Given the description of an element on the screen output the (x, y) to click on. 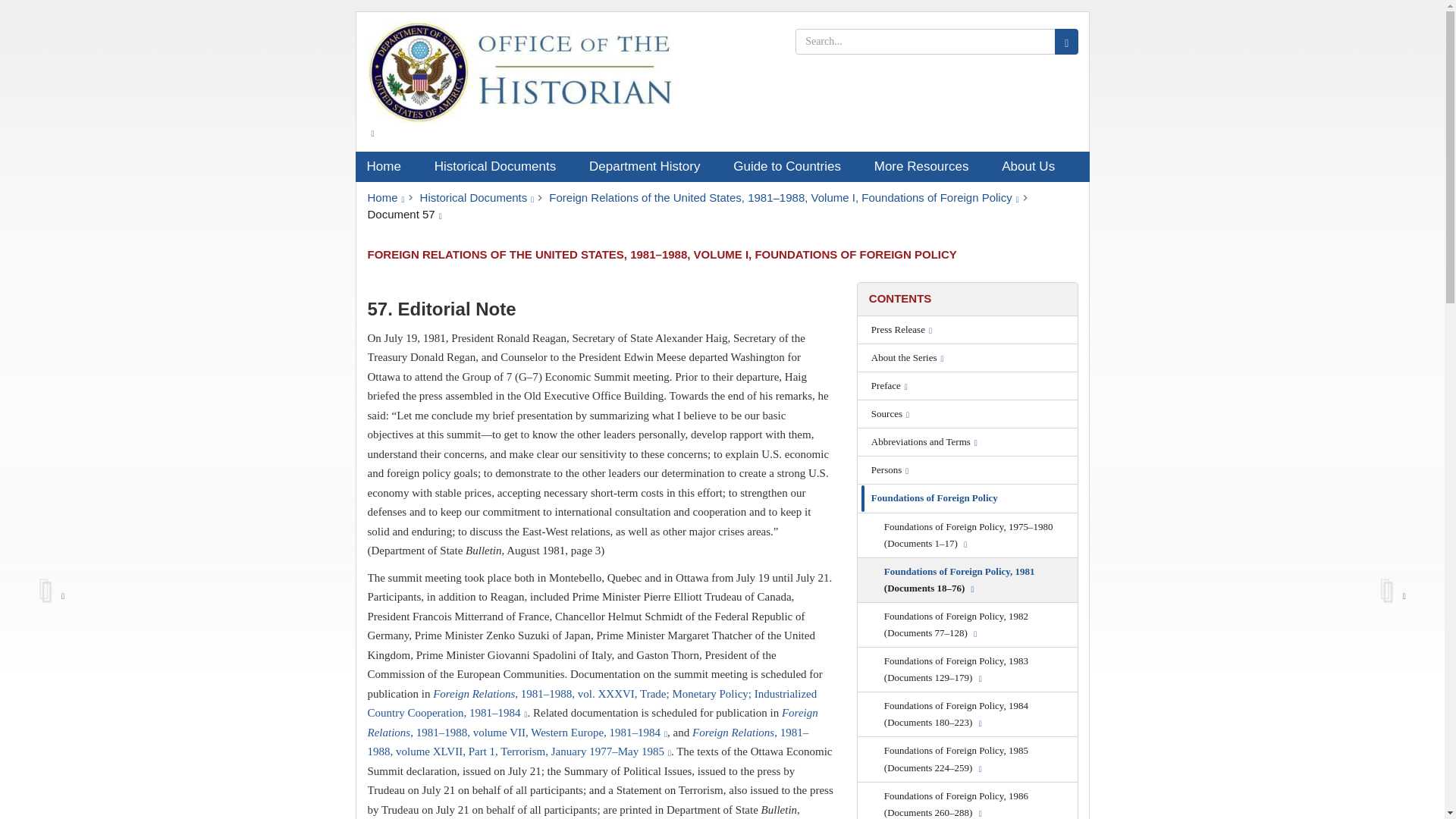
Document 57 (403, 214)
More Resources (926, 166)
Historical Documents (500, 166)
Home (388, 166)
About Us (1033, 166)
Home (385, 196)
Historical Documents (477, 196)
Guide to Countries (792, 166)
Department History (650, 166)
